Given the description of an element on the screen output the (x, y) to click on. 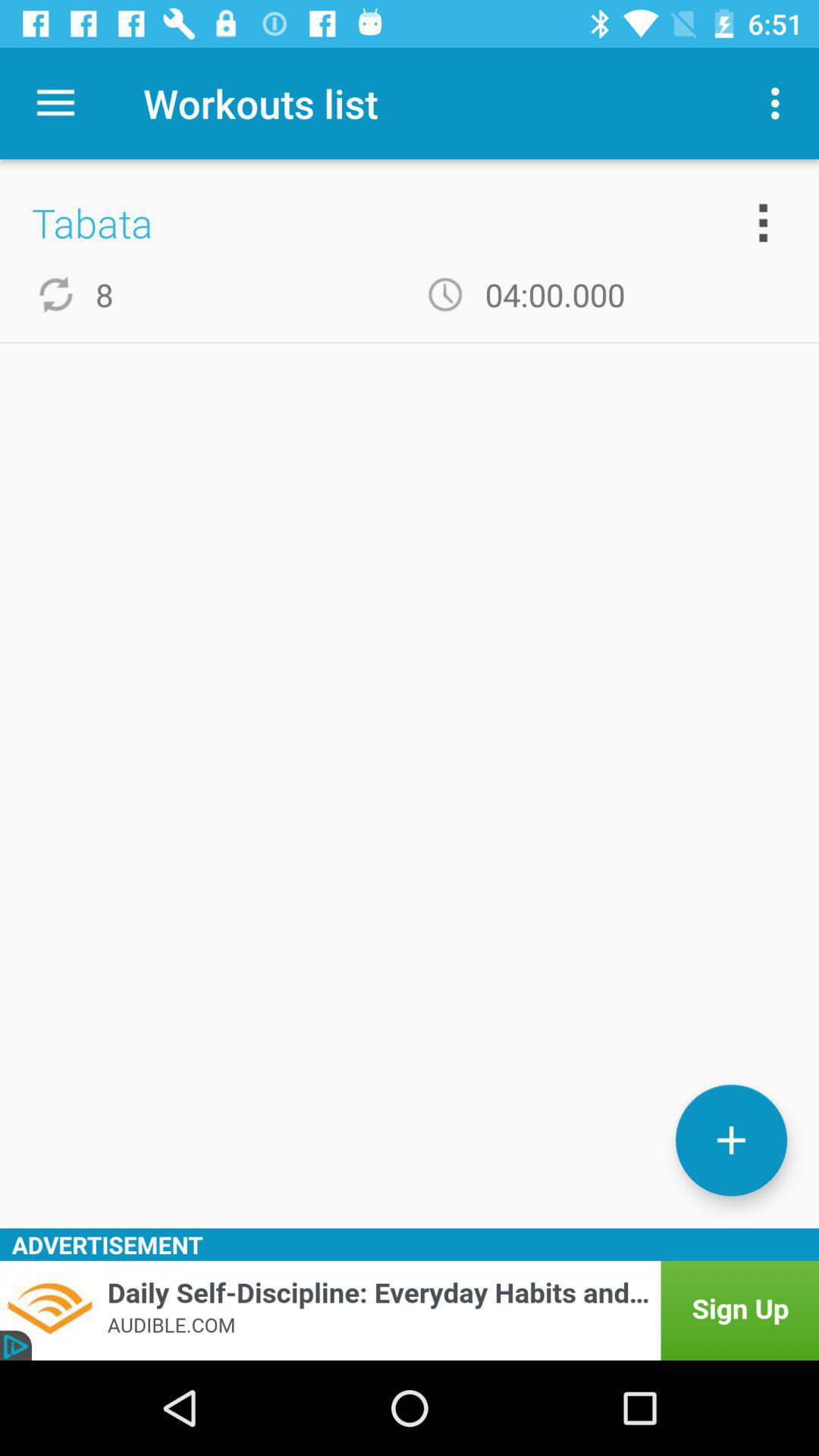
launch icon above tabata icon (55, 103)
